Given the description of an element on the screen output the (x, y) to click on. 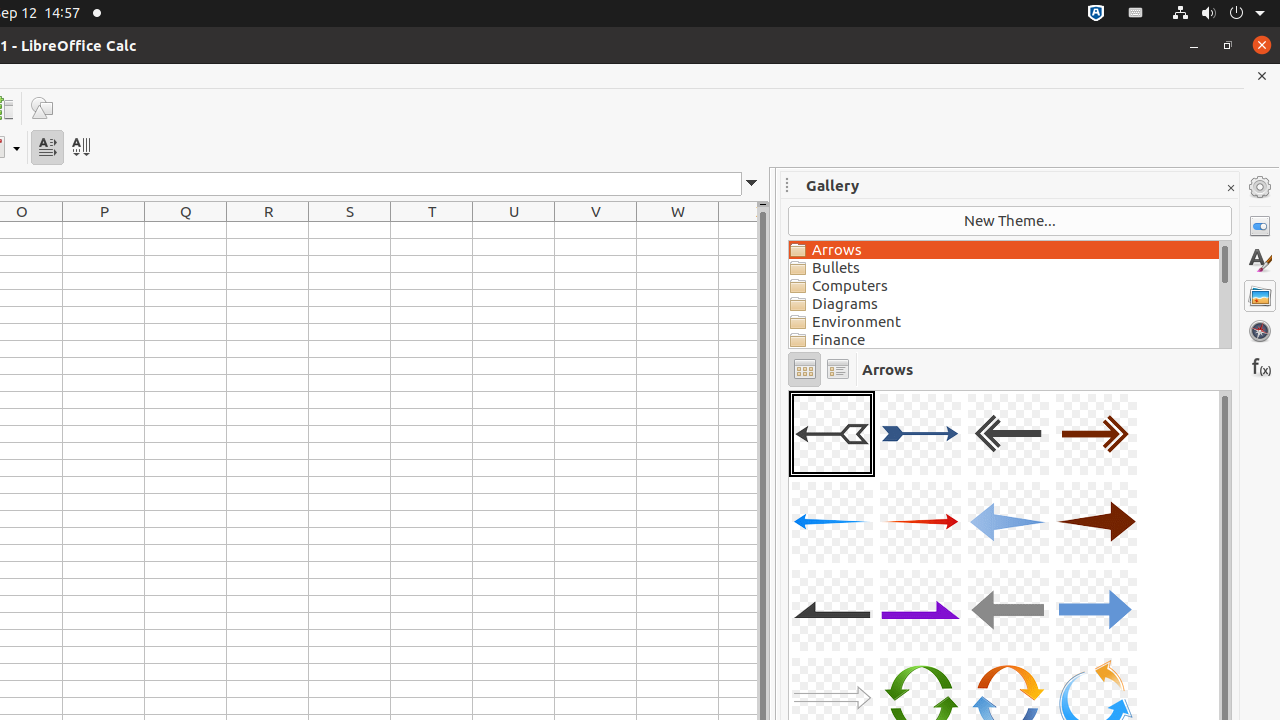
S1 Element type: table-cell (350, 230)
W1 Element type: table-cell (678, 230)
:1.72/StatusNotifierItem Element type: menu (1096, 13)
A46-TrendArrow-Orange-GoUp Element type: list-item (789, 390)
A05-Arrow-Blue-Left Element type: list-item (832, 522)
